Given the description of an element on the screen output the (x, y) to click on. 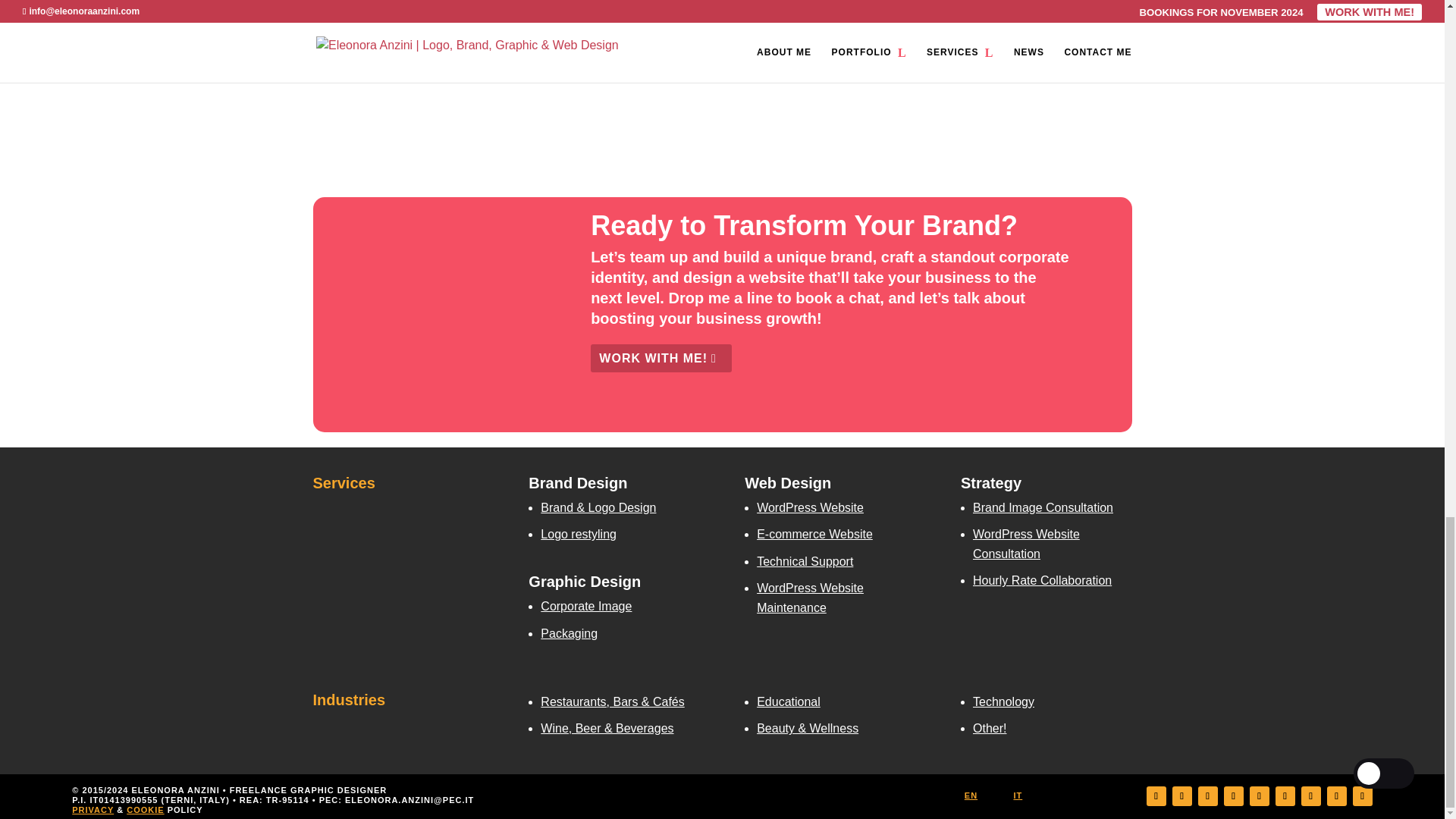
Follow on WhatsApp (1156, 795)
Follow on skype (1182, 795)
Follow on Meetup (1310, 795)
Follow on Facebook (1259, 795)
Follow on X (1233, 795)
Follow on Instagram (1285, 795)
Follow on LinkedIn (1207, 795)
Follow on Spotify (1362, 795)
Follow on RSS (1336, 795)
